Given the description of an element on the screen output the (x, y) to click on. 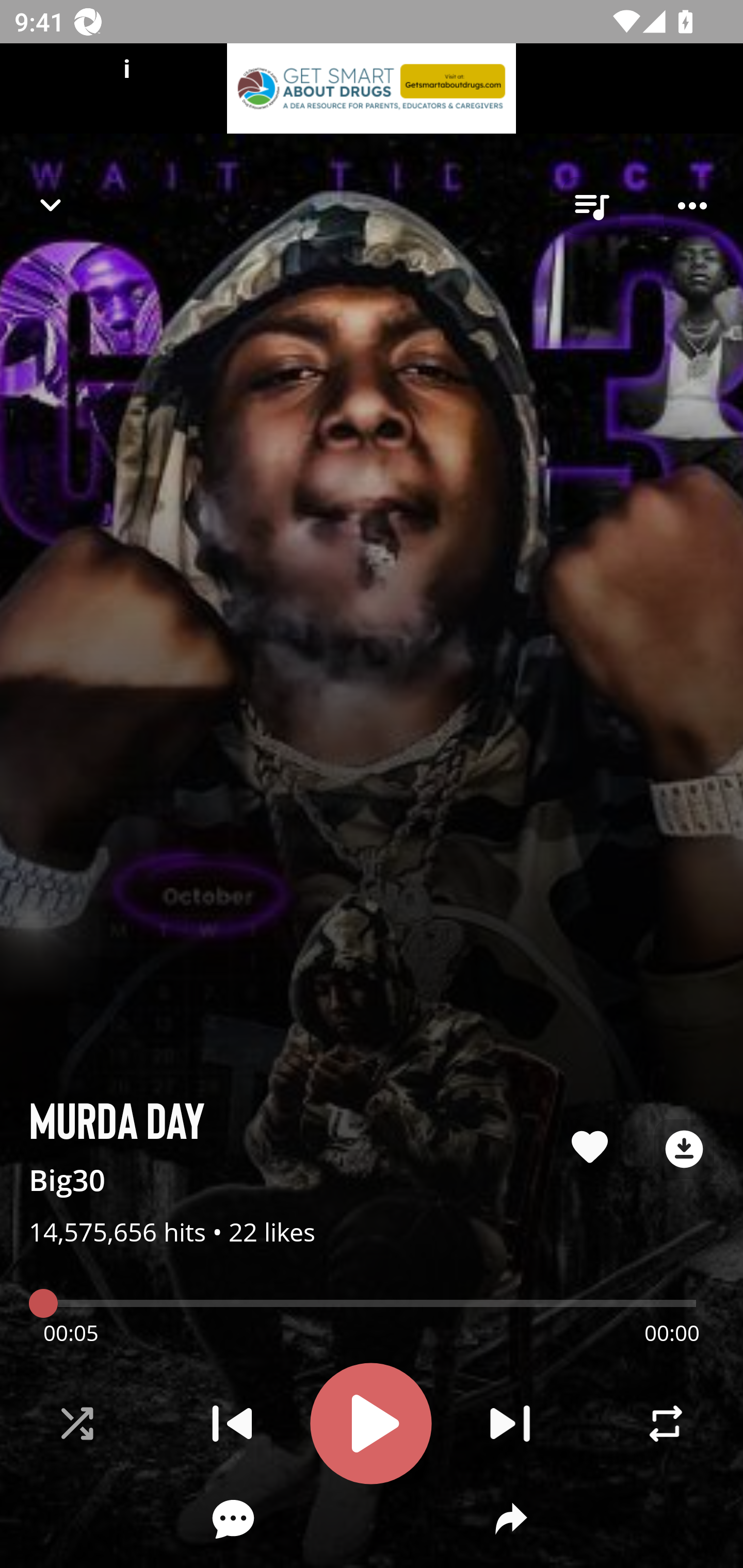
Navigate up (50, 205)
queue (590, 206)
Player options (692, 206)
